Given the description of an element on the screen output the (x, y) to click on. 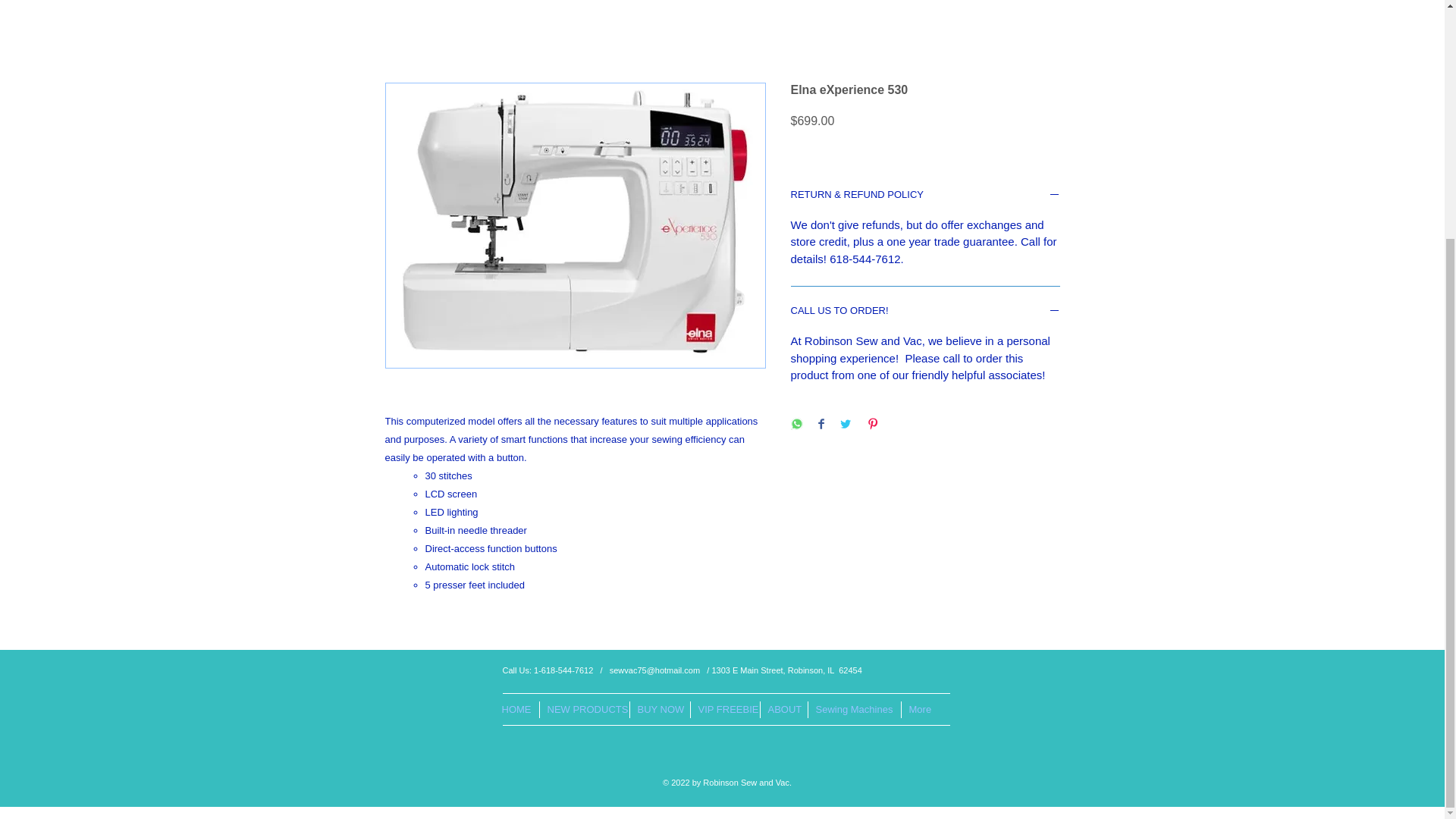
CALL US TO ORDER! (924, 312)
Sewing Machines (852, 709)
HOME (516, 709)
BUY NOW (659, 709)
VIP FREEBIE (725, 709)
ABOUT (784, 709)
NEW PRODUCTS (583, 709)
